Given the description of an element on the screen output the (x, y) to click on. 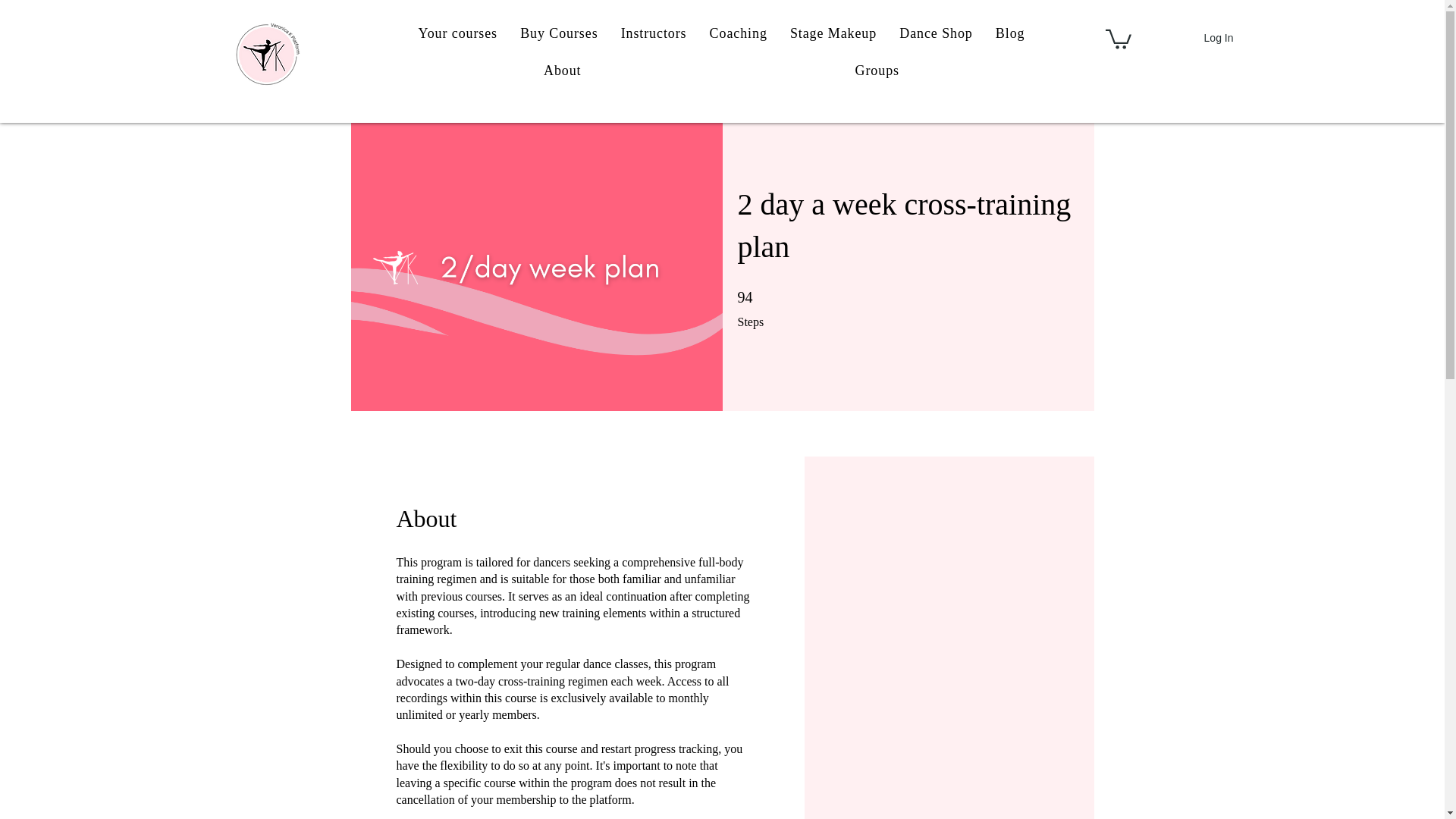
Groups (876, 70)
Log In (1218, 38)
Dance Shop (936, 33)
Your courses (457, 33)
Blog (1010, 33)
Instructors (653, 33)
Stage Makeup (833, 33)
About (561, 70)
